Given the description of an element on the screen output the (x, y) to click on. 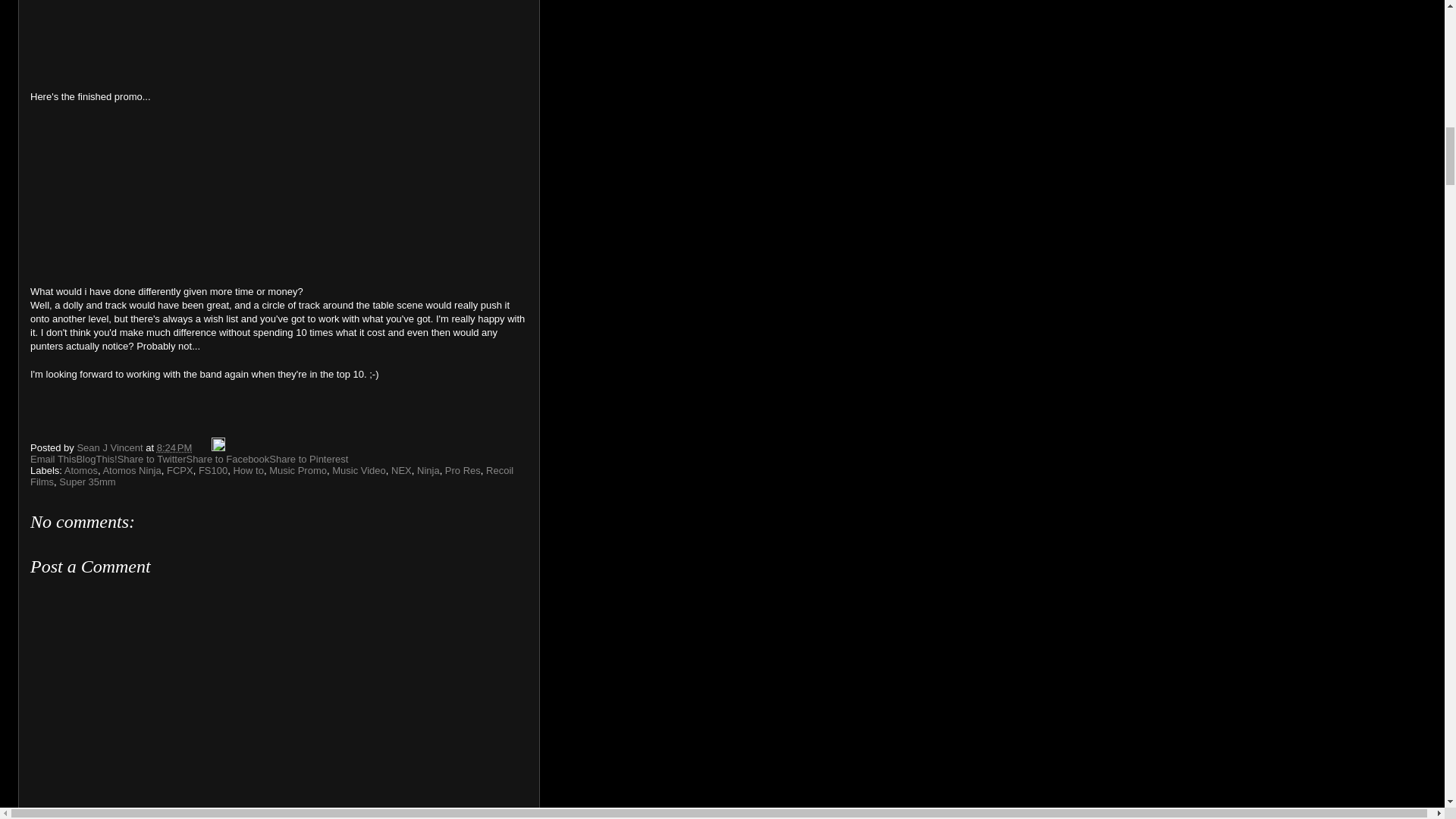
BlogThis! (95, 459)
Share to Twitter (151, 459)
Edit Post (218, 447)
Share to Facebook (227, 459)
Email This (52, 459)
Music Video (358, 470)
Ninja (427, 470)
Share to Facebook (227, 459)
NEX (401, 470)
Share to Pinterest (308, 459)
Atomos Ninja (130, 470)
permanent link (174, 447)
Share to Pinterest (308, 459)
BlogThis! (95, 459)
